Given the description of an element on the screen output the (x, y) to click on. 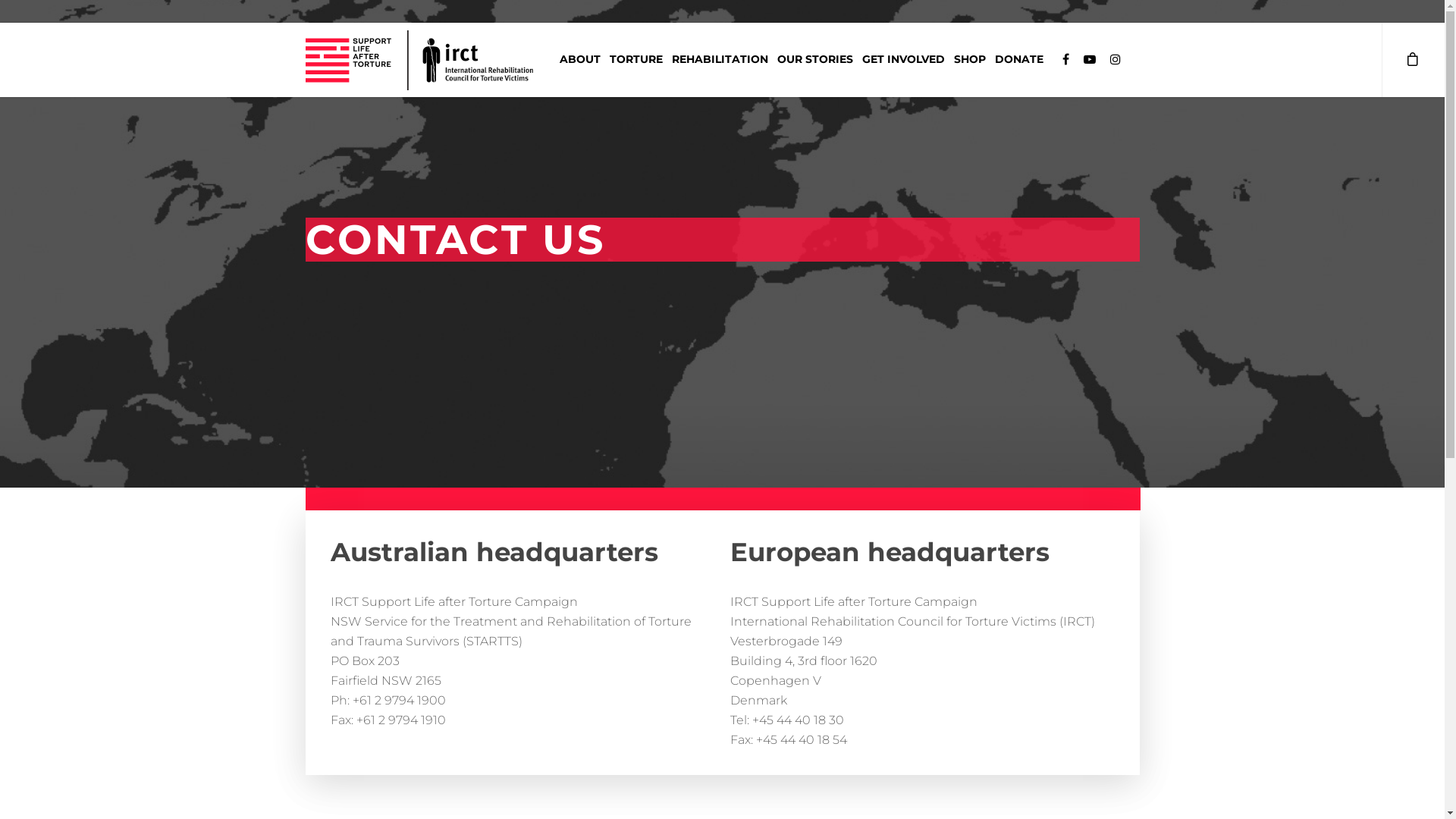
REHABILITATION Element type: text (719, 62)
DONATE Element type: text (1018, 62)
ABOUT Element type: text (579, 62)
GET INVOLVED Element type: text (903, 62)
OUR STORIES Element type: text (814, 62)
TORTURE Element type: text (635, 62)
SHOP Element type: text (968, 62)
